Given the description of an element on the screen output the (x, y) to click on. 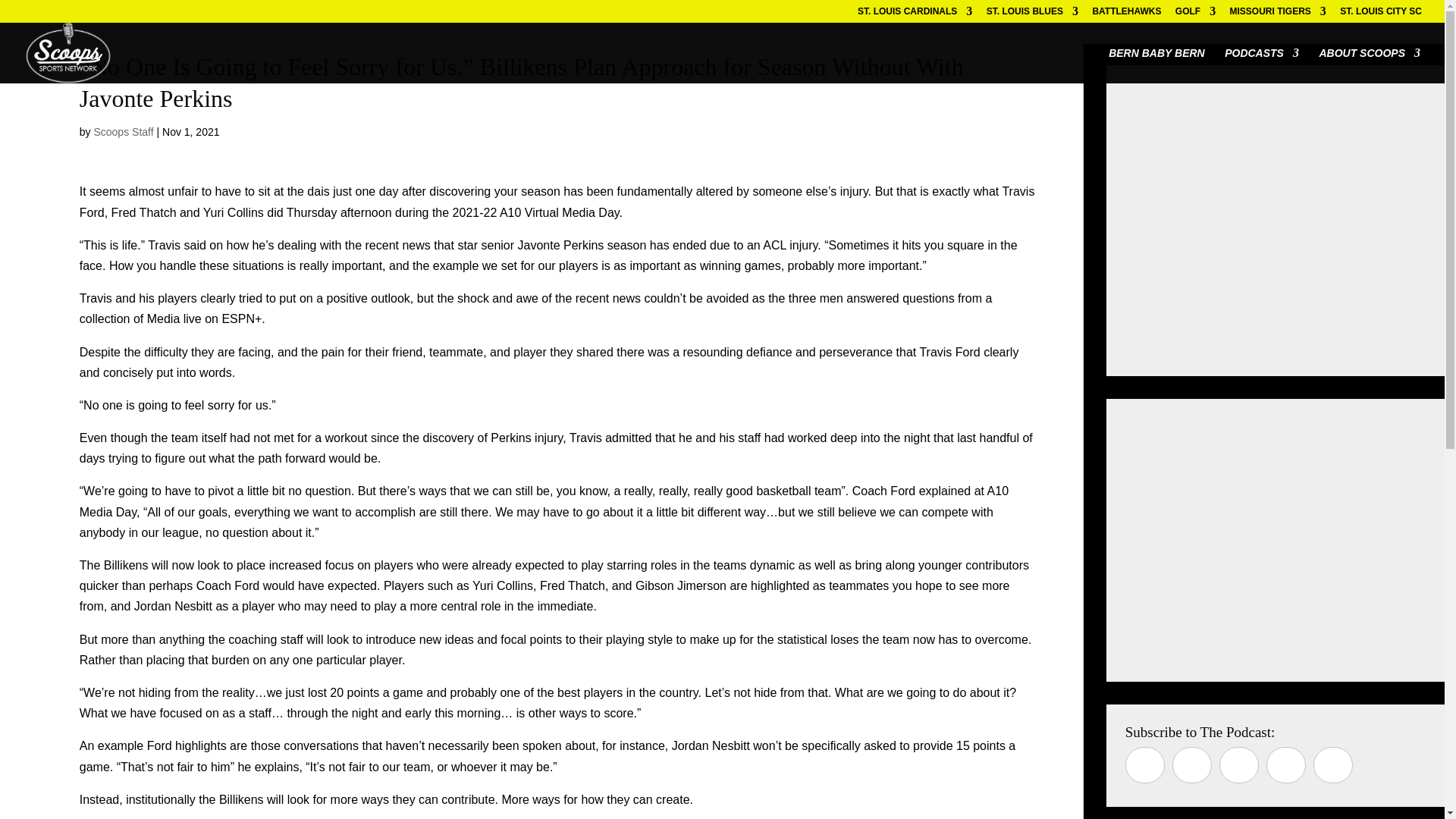
MISSOURI TIGERS (1278, 14)
ABOUT SCOOPS (1370, 65)
GOLF (1194, 14)
PODCASTS (1261, 65)
ST. LOUIS BLUES (1032, 14)
Subscribe on Android (1286, 764)
Subscribe on Amazon Music (1239, 764)
BATTLEHAWKS (1126, 14)
Subscribe on Apple Podcasts (1144, 764)
Posts by Scoops Staff (122, 132)
Subscribe on Spotify (1191, 764)
ST. LOUIS CITY SC (1380, 14)
BERN BABY BERN (1156, 65)
ST. LOUIS CARDINALS (914, 14)
More Subscribe Options (1332, 764)
